Given the description of an element on the screen output the (x, y) to click on. 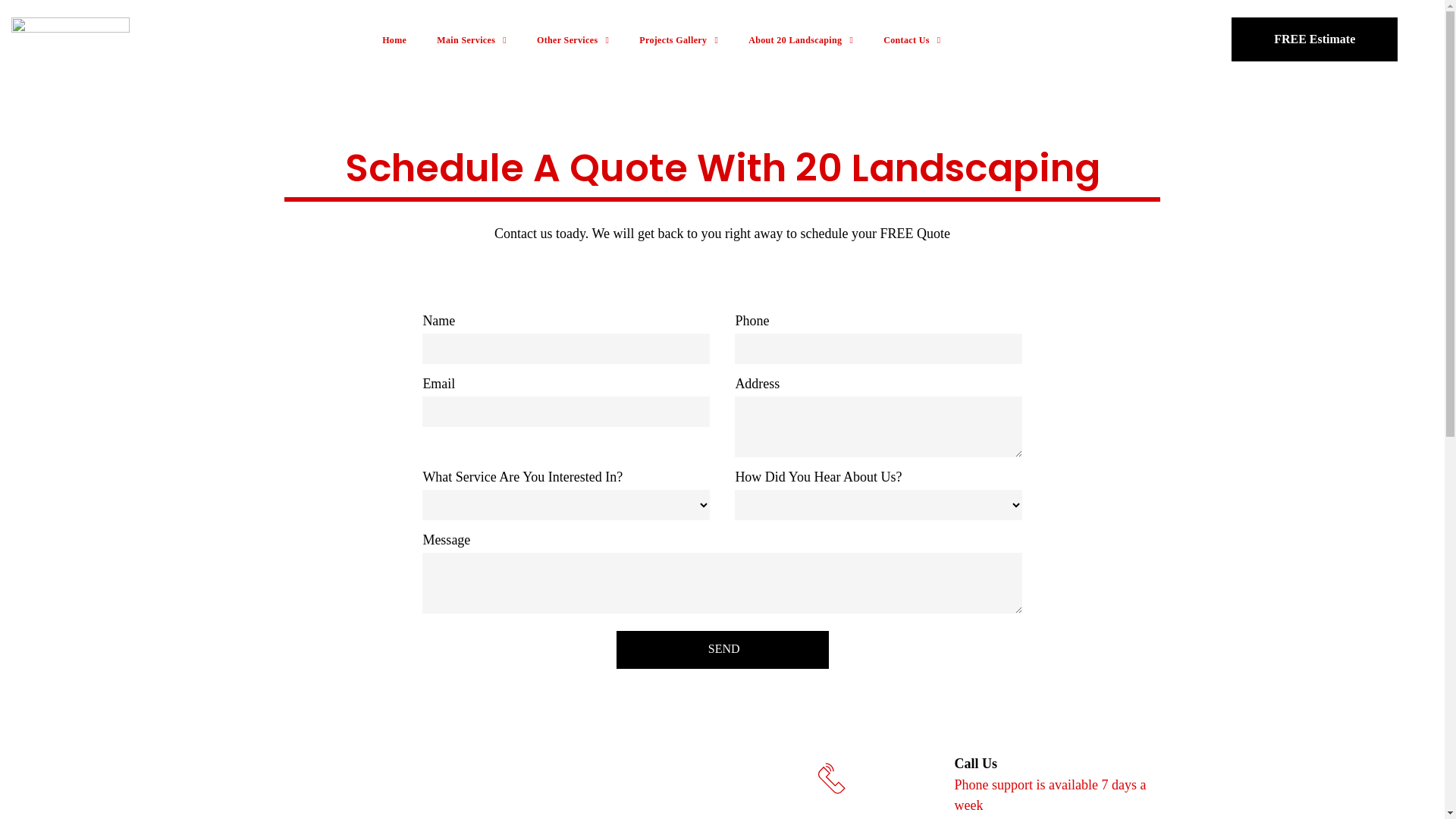
FREE Estimate Element type: text (1314, 39)
SEND Element type: text (724, 648)
Main Services Element type: text (471, 40)
Other Services Element type: text (572, 40)
About 20 Landscaping Element type: text (800, 40)
Home Element type: text (394, 40)
Contact Us Element type: text (911, 40)
Projects Gallery Element type: text (678, 40)
